Given the description of an element on the screen output the (x, y) to click on. 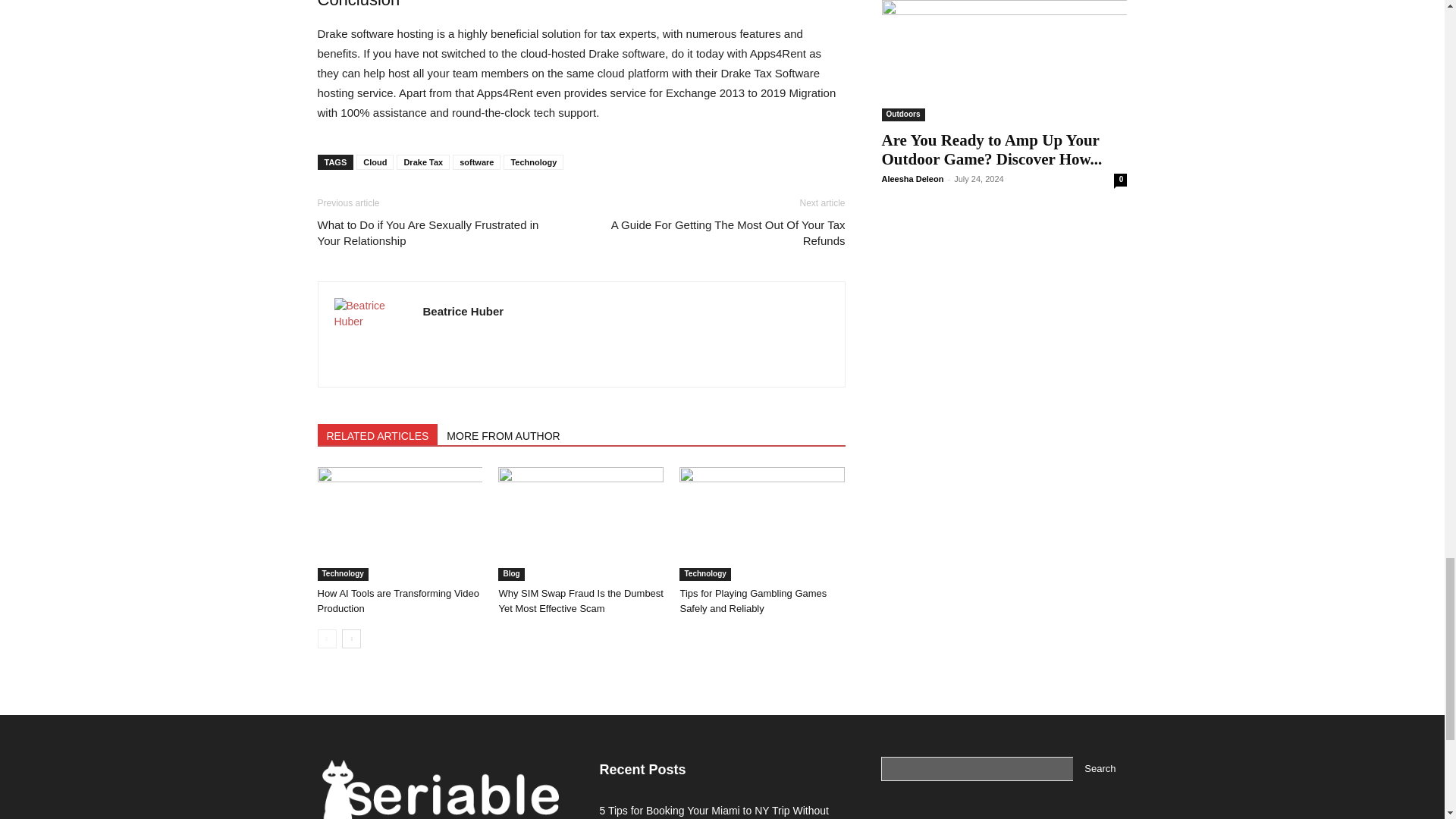
Why SIM Swap Fraud Is the Dumbest Yet Most Effective Scam (579, 601)
How AI Tools are Transforming Video Production (399, 523)
Why SIM Swap Fraud Is the Dumbest Yet Most Effective Scam (580, 523)
How AI Tools are Transforming Video Production (398, 601)
Tips for Playing Gambling Games Safely and Reliably (761, 523)
Search (1099, 768)
